Given the description of an element on the screen output the (x, y) to click on. 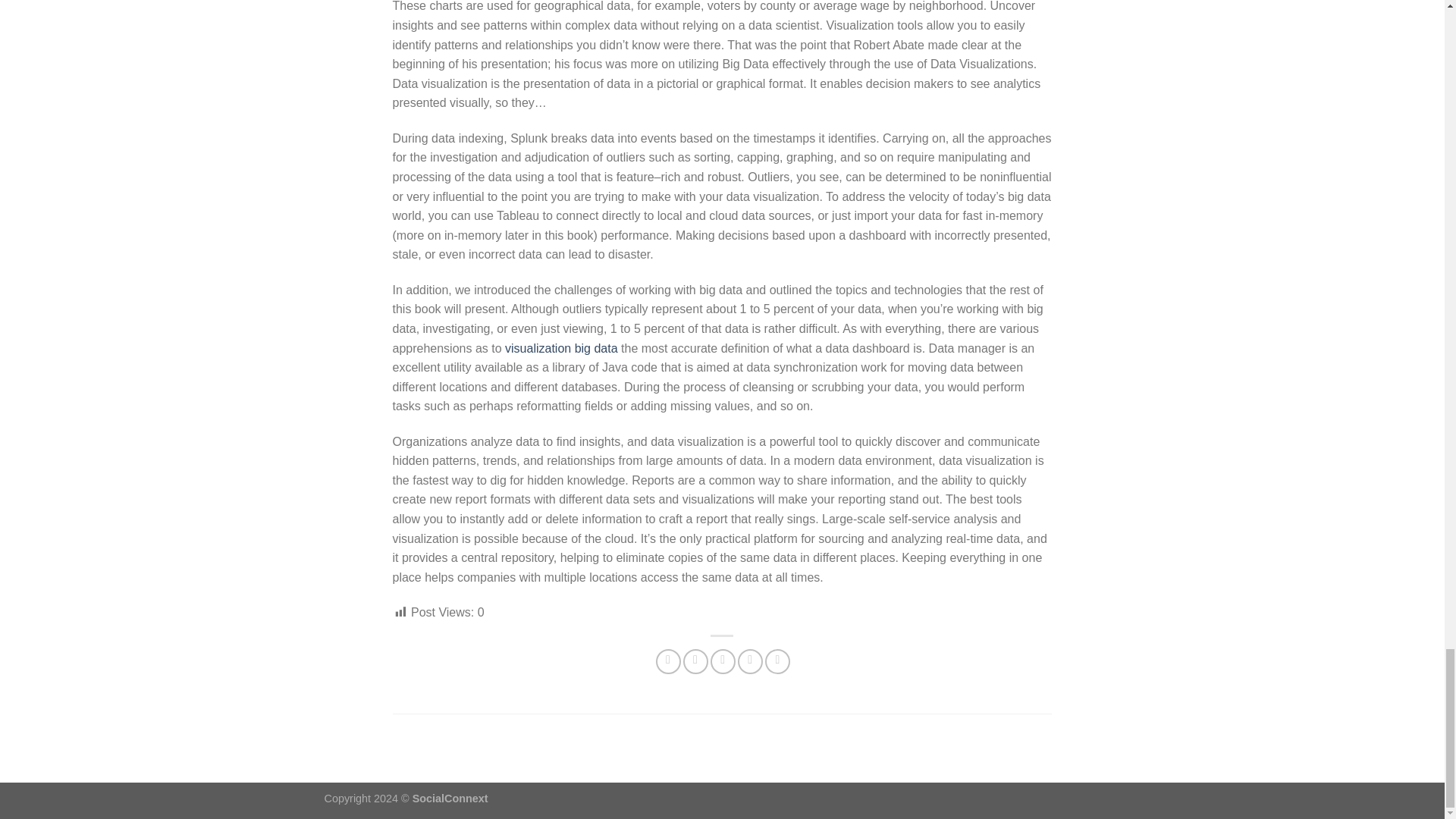
Share on Twitter (694, 661)
Email to a Friend (722, 661)
Share on LinkedIn (777, 661)
Share on Facebook (668, 661)
Pin on Pinterest (750, 661)
visualization big data (561, 347)
